Given the description of an element on the screen output the (x, y) to click on. 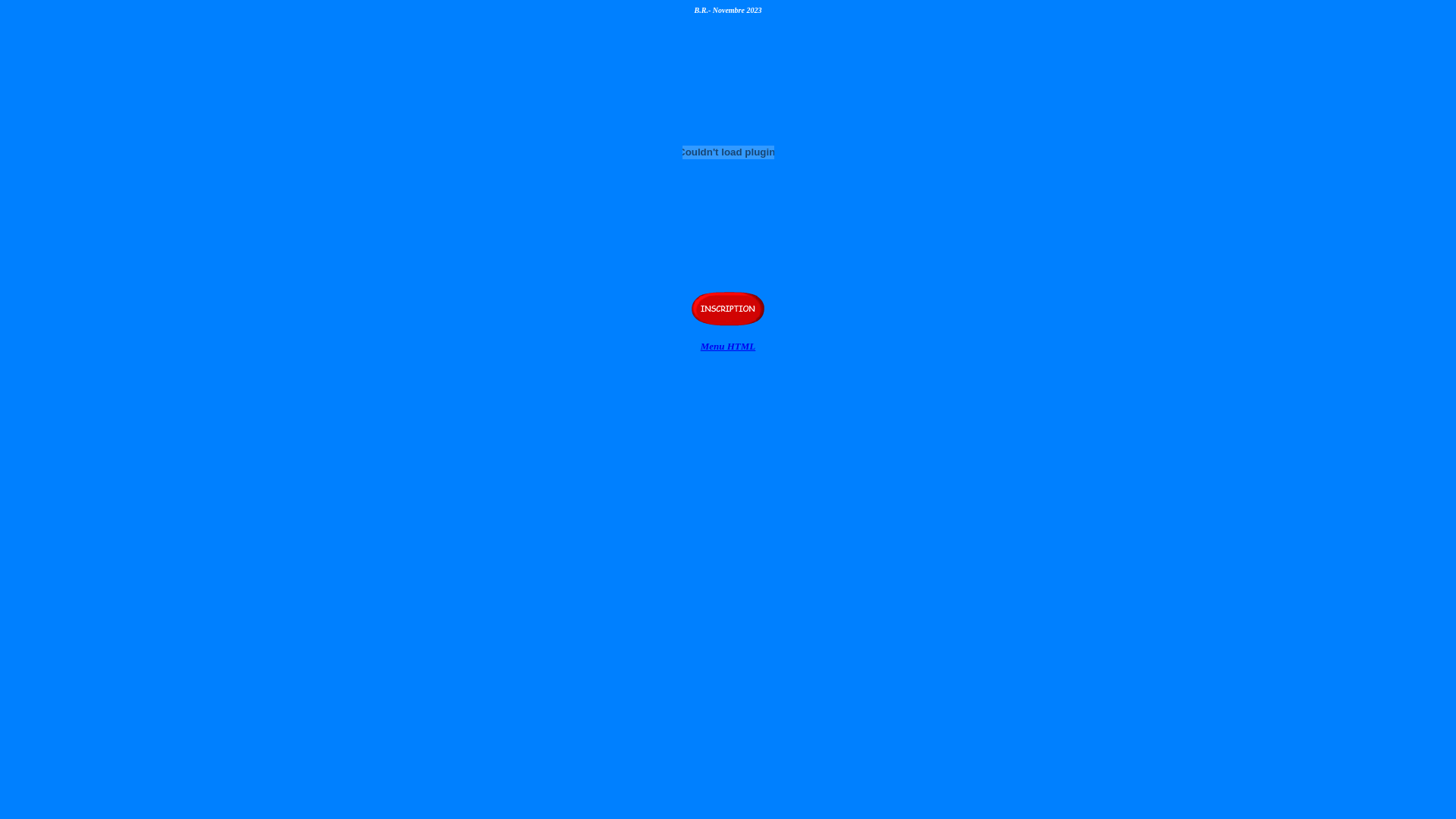
Menu HTML Element type: text (728, 344)
